Given the description of an element on the screen output the (x, y) to click on. 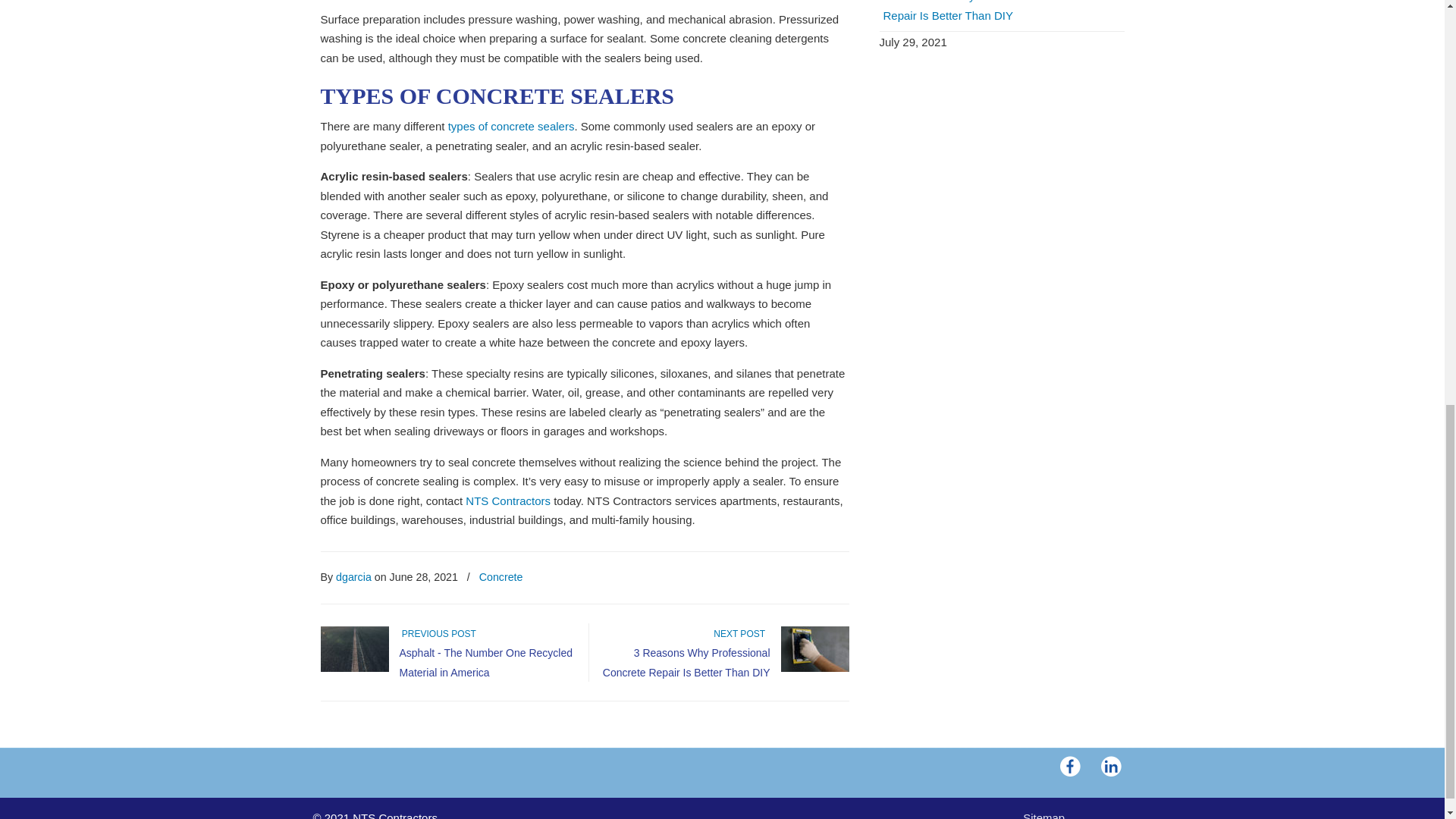
Posts by dgarcia (353, 577)
Asphalt - The Number One Recycled Material in America (485, 662)
Concrete (500, 577)
NEXT POST   (741, 633)
 PREVIOUS POST (437, 633)
NTS Contractors (507, 500)
Go to next post (741, 633)
dgarcia (353, 577)
Asphalt - The Number One Recycled Material in America (485, 662)
 types of concrete sealers (508, 125)
Go to previous post (437, 633)
